Given the description of an element on the screen output the (x, y) to click on. 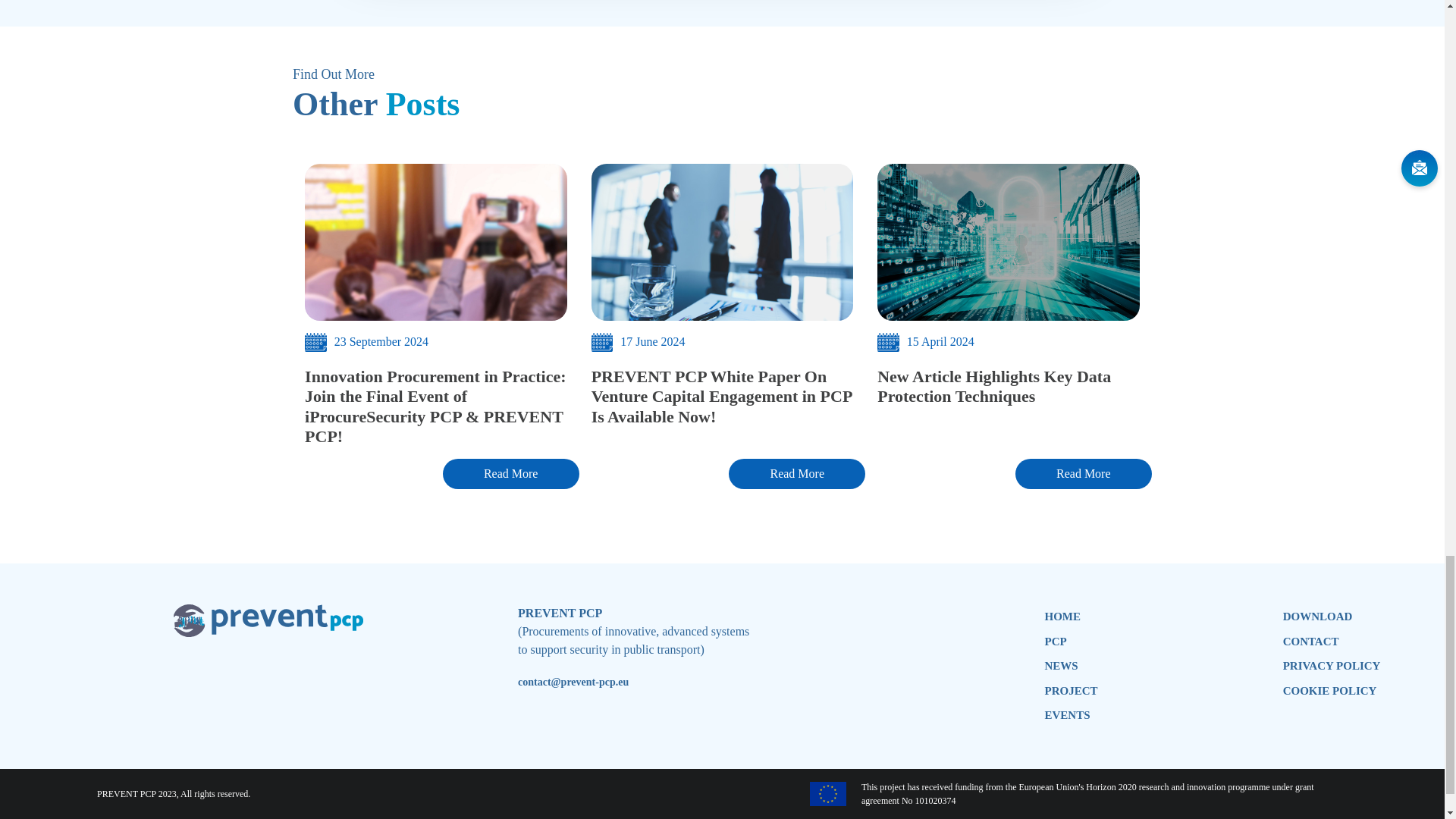
PRIVACY POLICY (1331, 665)
COOKIE POLICY (1331, 690)
DOWNLOAD (1331, 616)
PCP (1070, 641)
NEWS (1070, 665)
CONTACT (1331, 641)
PROJECT (1070, 690)
HOME (1070, 616)
EVENTS (1070, 715)
